Given the description of an element on the screen output the (x, y) to click on. 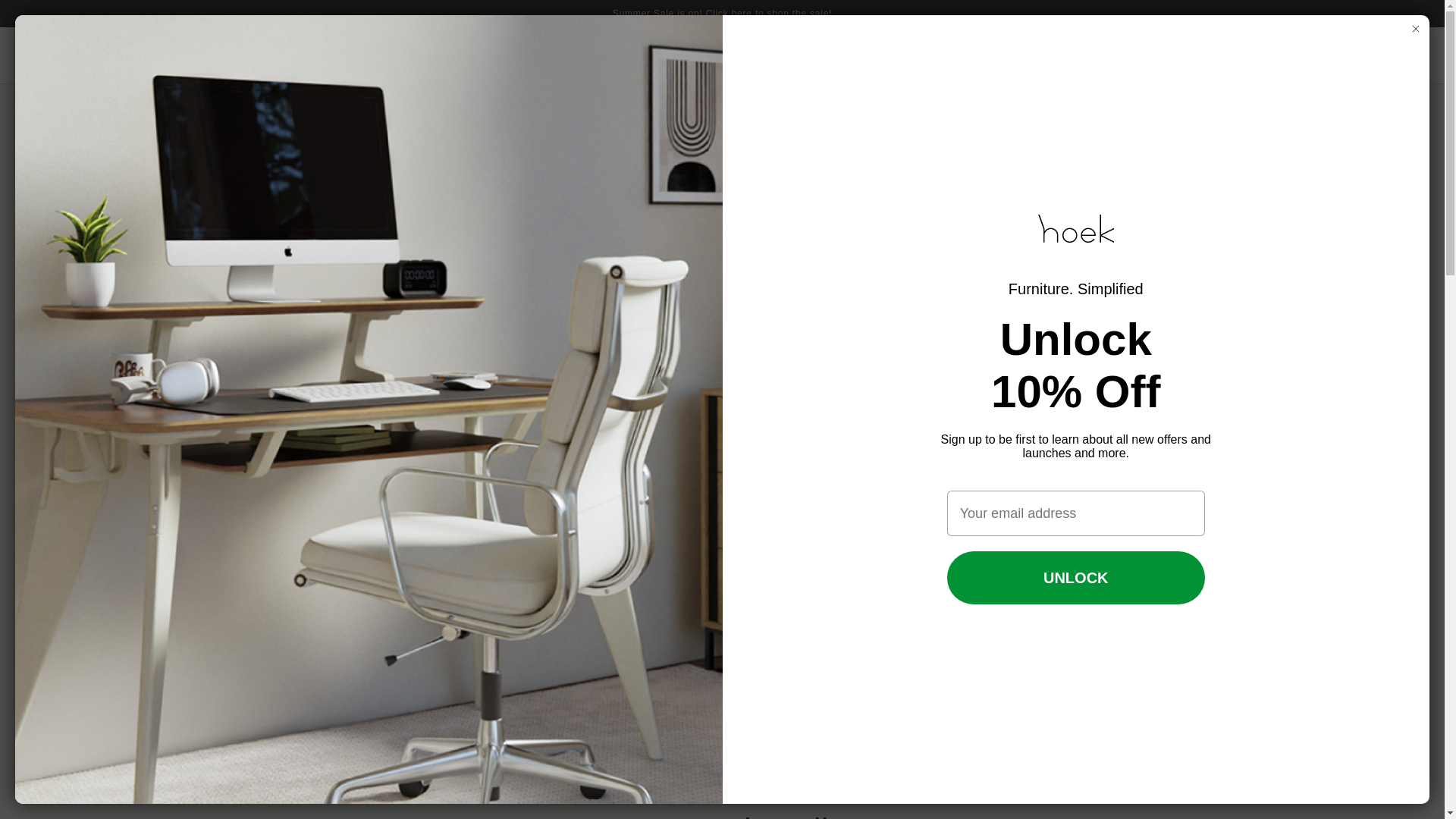
Back to the frontpage (169, 119)
LIVING (644, 54)
DINING (581, 54)
Summer Sale is on! Click here to shop the sale! (721, 12)
HOME OFFICE (500, 54)
SKIP TO CONTENT (52, 14)
